Given the description of an element on the screen output the (x, y) to click on. 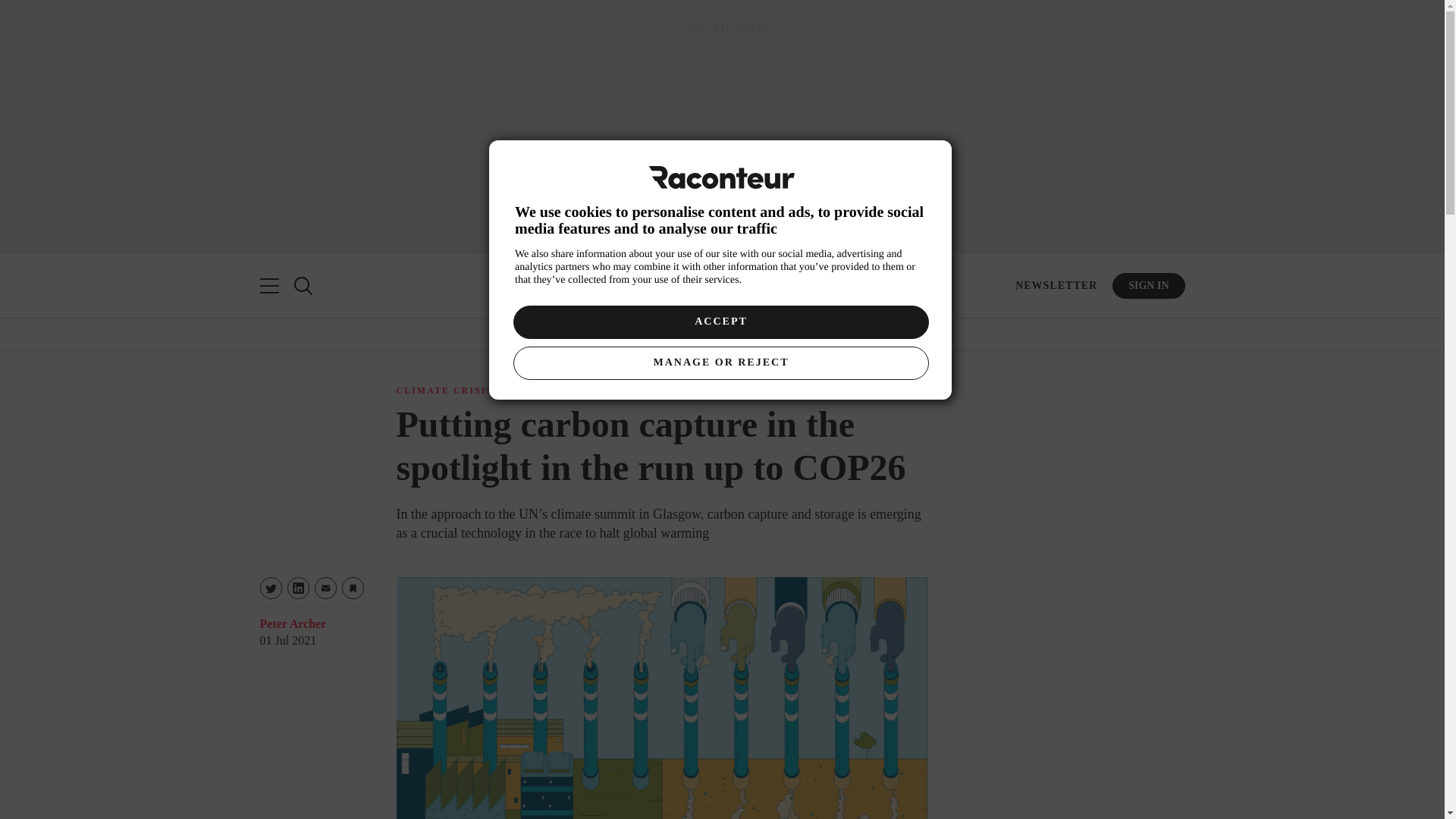
ACCEPT (720, 322)
MANAGE OR REJECT (720, 363)
